Given the description of an element on the screen output the (x, y) to click on. 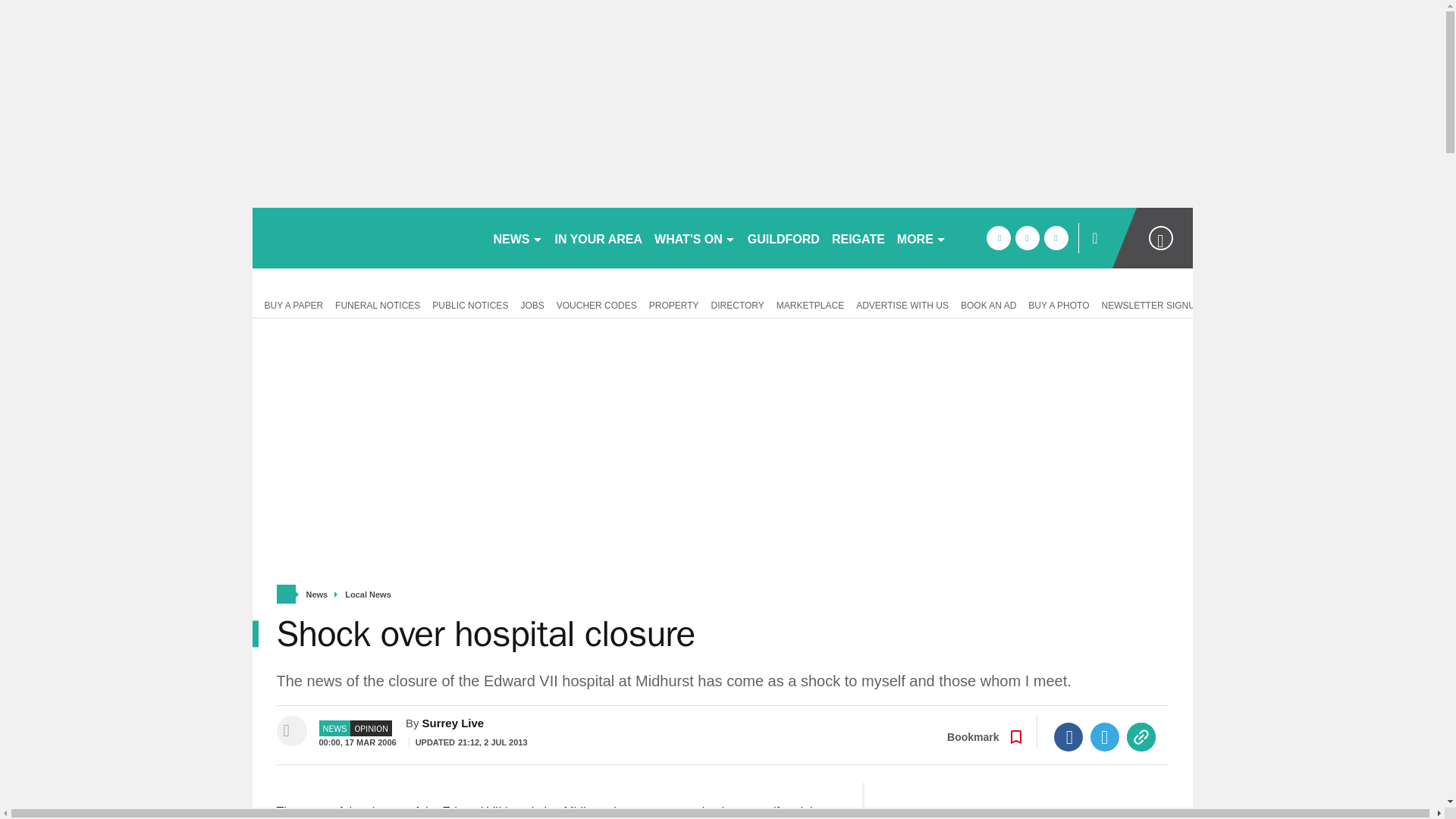
REIGATE (858, 238)
GUILDFORD (783, 238)
FUNERAL NOTICES (377, 304)
getsurrey (365, 238)
PROPERTY (673, 304)
PUBLIC NOTICES (469, 304)
NEWS (517, 238)
twitter (1026, 238)
instagram (1055, 238)
Twitter (1104, 736)
VOUCHER CODES (596, 304)
BUY A PAPER (290, 304)
JOBS (531, 304)
facebook (997, 238)
WHAT'S ON (694, 238)
